Given the description of an element on the screen output the (x, y) to click on. 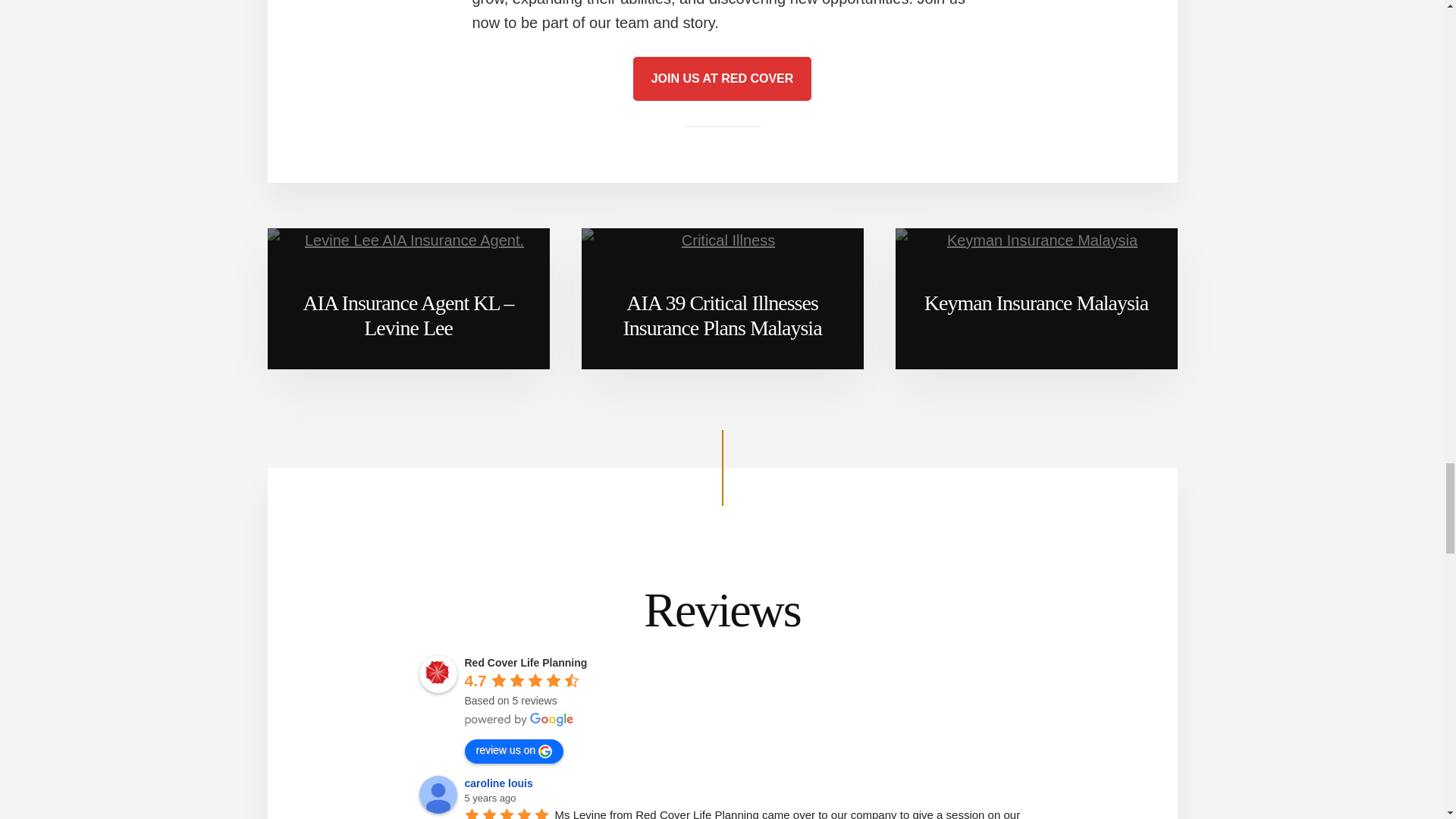
powered by Google (518, 719)
caroline louis (438, 793)
Red Cover Life Planning (438, 673)
